Given the description of an element on the screen output the (x, y) to click on. 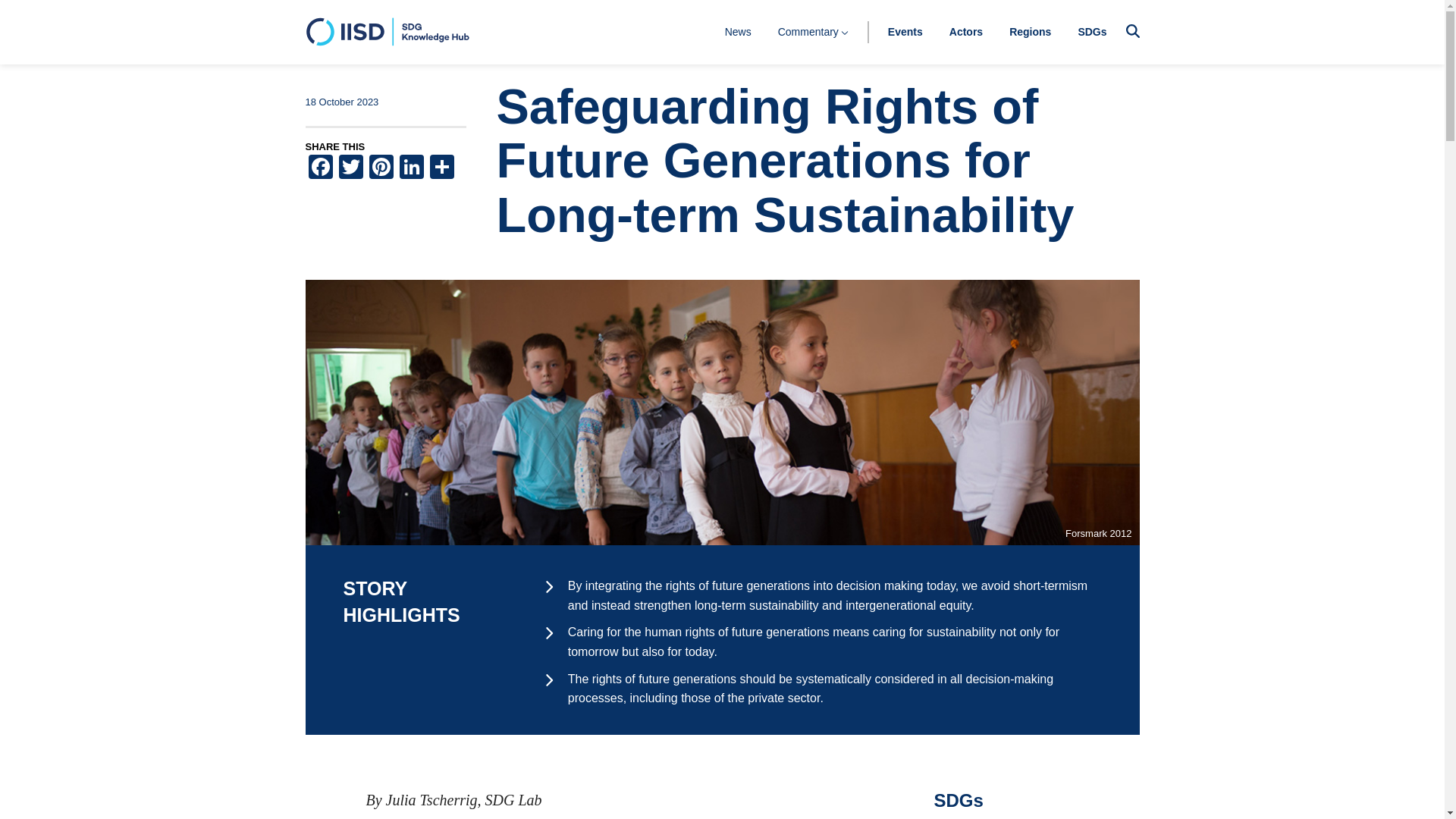
Twitter (349, 168)
Share (441, 168)
LinkedIn (411, 168)
Regions (1030, 31)
SDGs (1091, 31)
Actors (965, 31)
Pinterest (380, 168)
Facebook (319, 168)
News (738, 31)
Pinterest (380, 168)
Commentary (812, 31)
LinkedIn (411, 168)
Events (905, 31)
Facebook (319, 168)
Twitter (349, 168)
